Given the description of an element on the screen output the (x, y) to click on. 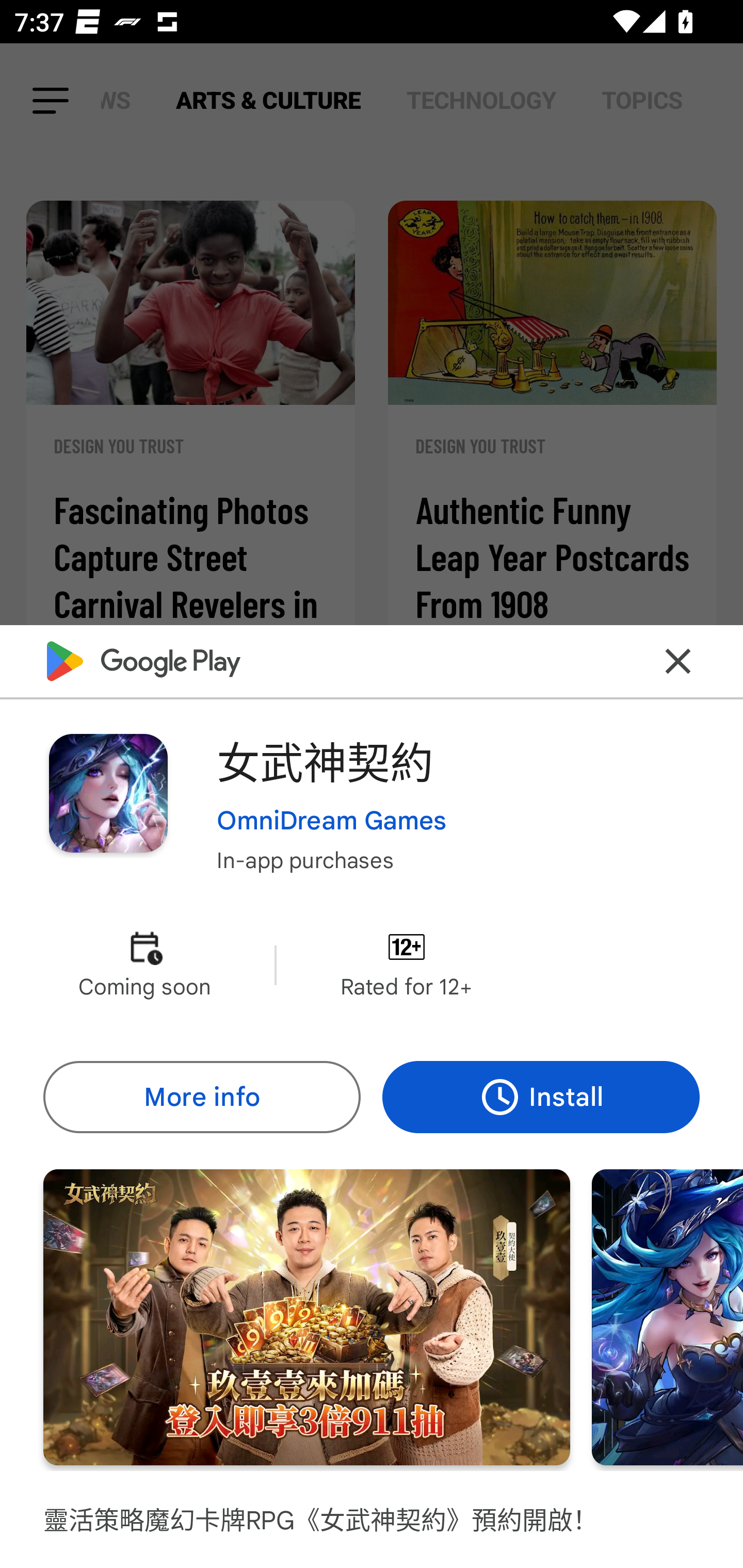
Close (677, 661)
Image of app or game icon for 女武神契約 (108, 792)
OmniDream Games (331, 820)
More info (201, 1097)
Install (540, 1097)
Screenshot "1" of "5" (306, 1317)
